Given the description of an element on the screen output the (x, y) to click on. 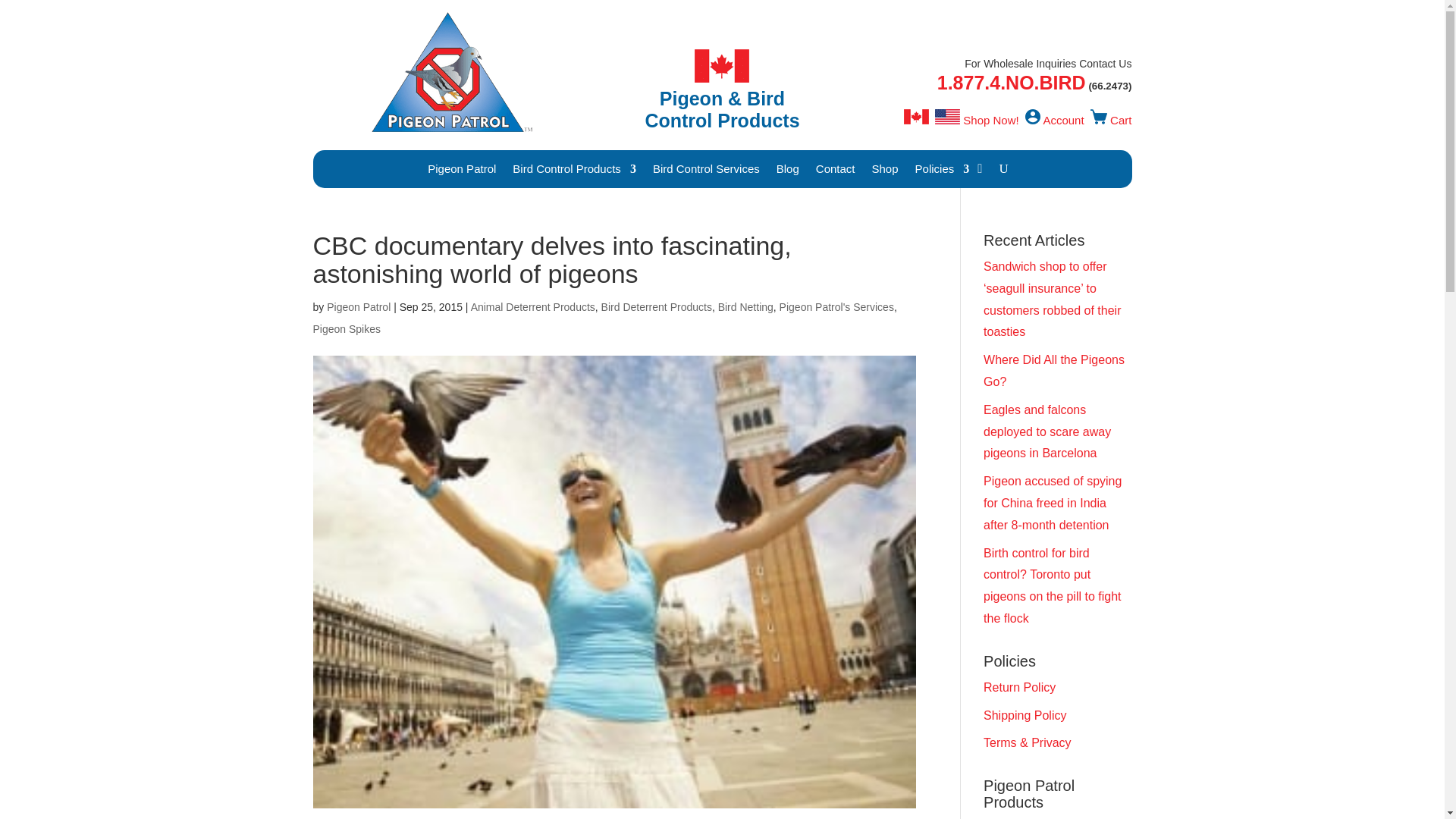
Pigeon Deterrent and Removal Blog (787, 171)
Shop Now! (989, 119)
Policies (942, 171)
Pigeon Patrol (462, 171)
Pigeon Deterrent and Removal Services Contacts (835, 171)
Bird Control Services (706, 171)
Bird Control Products (574, 171)
Pigeon Patrol Bird Control (462, 171)
Account (1062, 119)
Pigeon Deterrent and Removal Services (706, 171)
